Given the description of an element on the screen output the (x, y) to click on. 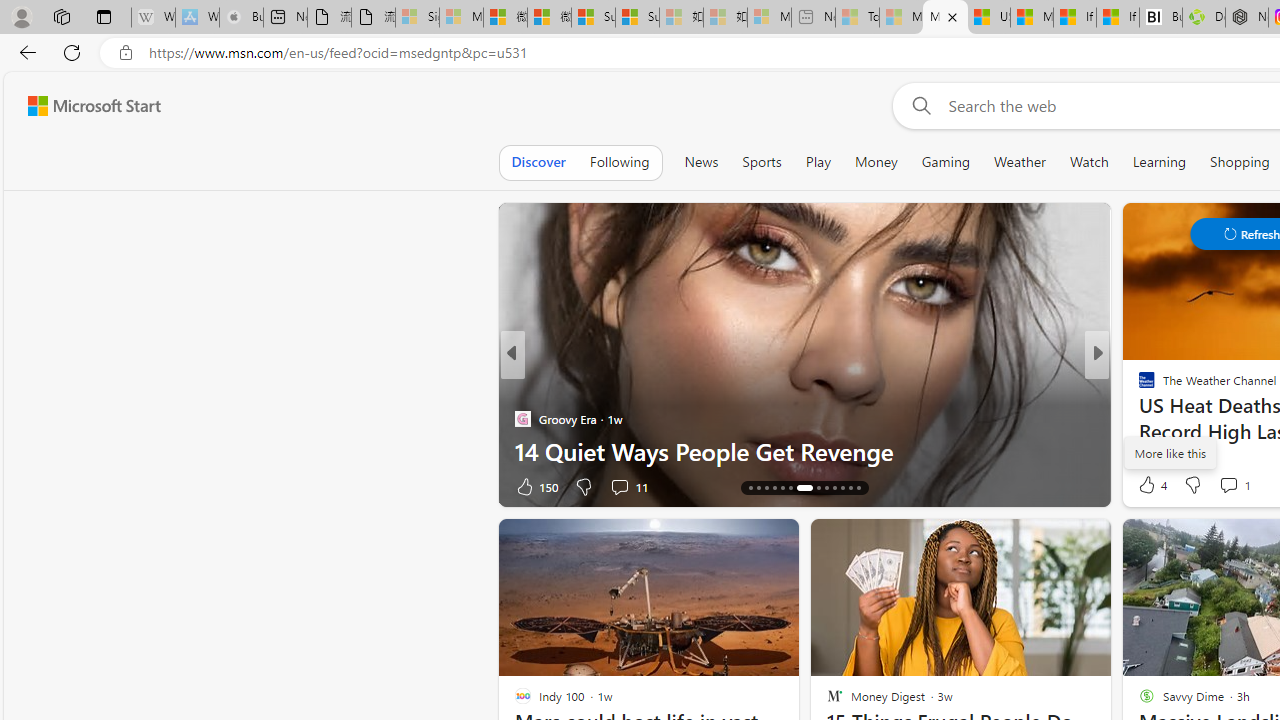
Hide this story (1050, 542)
4 Like (1151, 484)
AutomationID: tab-20 (804, 487)
ChaChingQueen (1138, 386)
Gaming (945, 162)
A Conscious Rethink (1138, 386)
View site information (125, 53)
Money (875, 161)
Weather (1020, 161)
View comments 11 Comment (619, 485)
150 Like (535, 486)
Microsoft account | Account Checkup - Sleeping (769, 17)
Sports (761, 162)
View comments 3 Comment (1234, 485)
Nordace - Nordace Edin Collection (1247, 17)
